Given the description of an element on the screen output the (x, y) to click on. 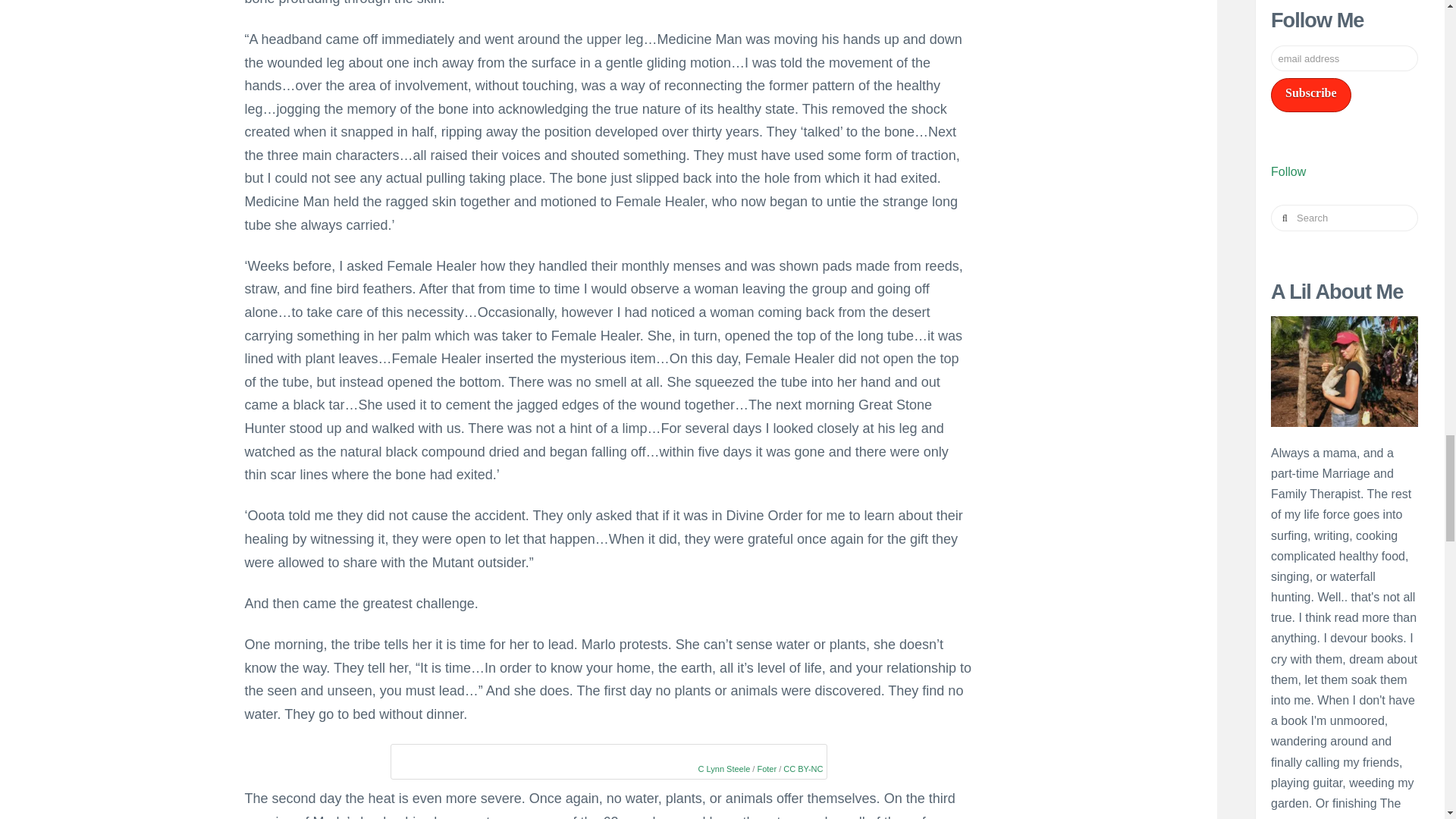
ADVENTURES IN THE CHANNEL ISLANDS: CALIFORNIA BACK IN TIME (1343, 32)
CC BY-NC (802, 768)
C Lynn Steele (724, 768)
Foter (766, 768)
